Given the description of an element on the screen output the (x, y) to click on. 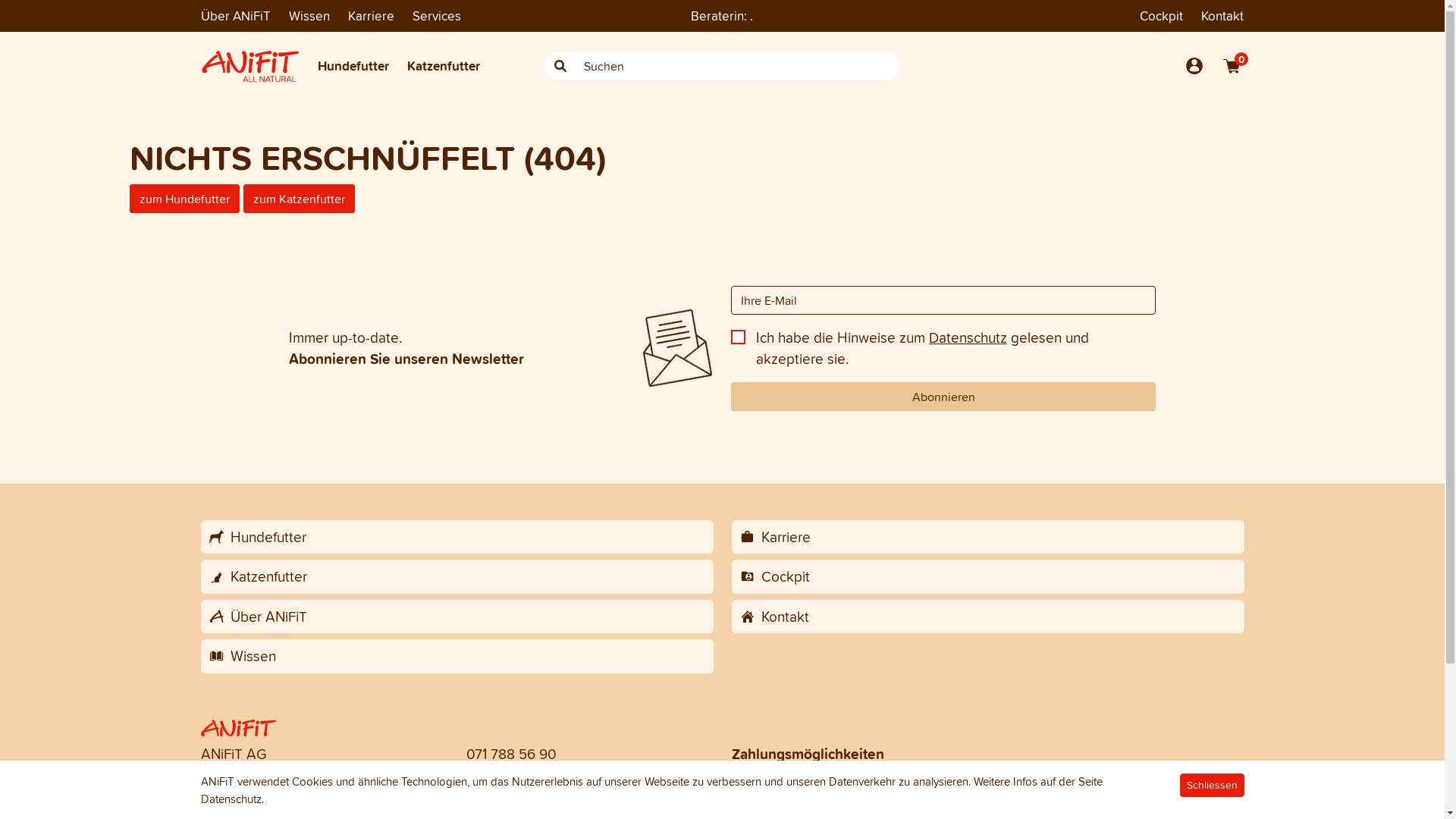
https://www.anifit.ch Element type: text (527, 796)
zum Katzenfutter Element type: text (298, 197)
Datenschutz Element type: text (967, 337)
Katzenfutter Element type: text (456, 576)
service@anifit.ch Element type: text (516, 775)
Hundefutter Element type: text (352, 65)
Abonnieren Element type: text (942, 396)
Hundefutter Element type: text (456, 537)
Katzenfutter Element type: text (442, 65)
071 788 56 90 Element type: text (510, 753)
Karriere Element type: text (370, 15)
Schliessen Element type: text (1211, 785)
Kontakt Element type: text (987, 616)
zum Hundefutter Element type: text (184, 197)
Wissen Element type: text (308, 15)
Cockpit Element type: text (987, 576)
Services Element type: text (436, 15)
Karriere Element type: text (987, 537)
Kontakt Element type: text (1222, 15)
Cockpit Element type: text (1161, 15)
Datenschutz Element type: text (230, 798)
Wissen Element type: text (456, 656)
0 Element type: text (1230, 65)
